Given the description of an element on the screen output the (x, y) to click on. 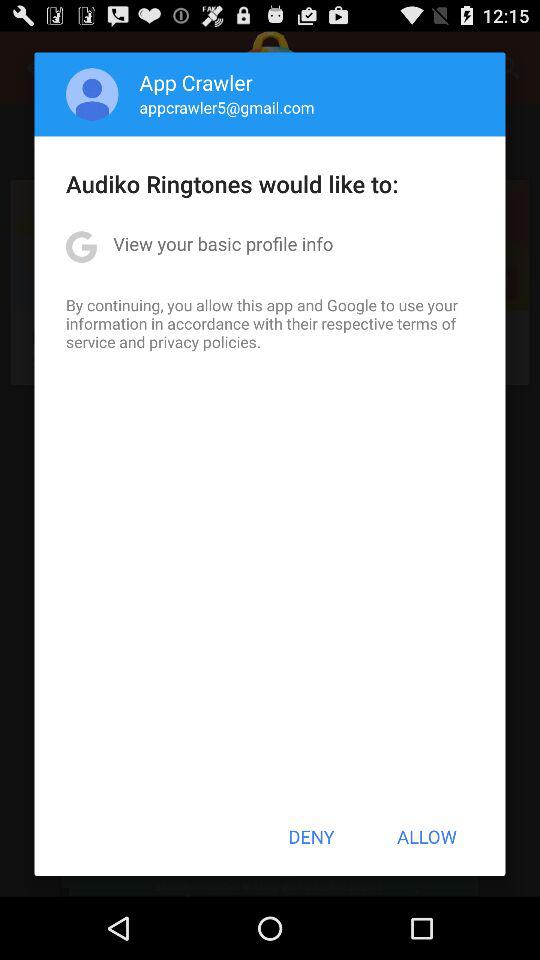
scroll to the app crawler icon (195, 82)
